Given the description of an element on the screen output the (x, y) to click on. 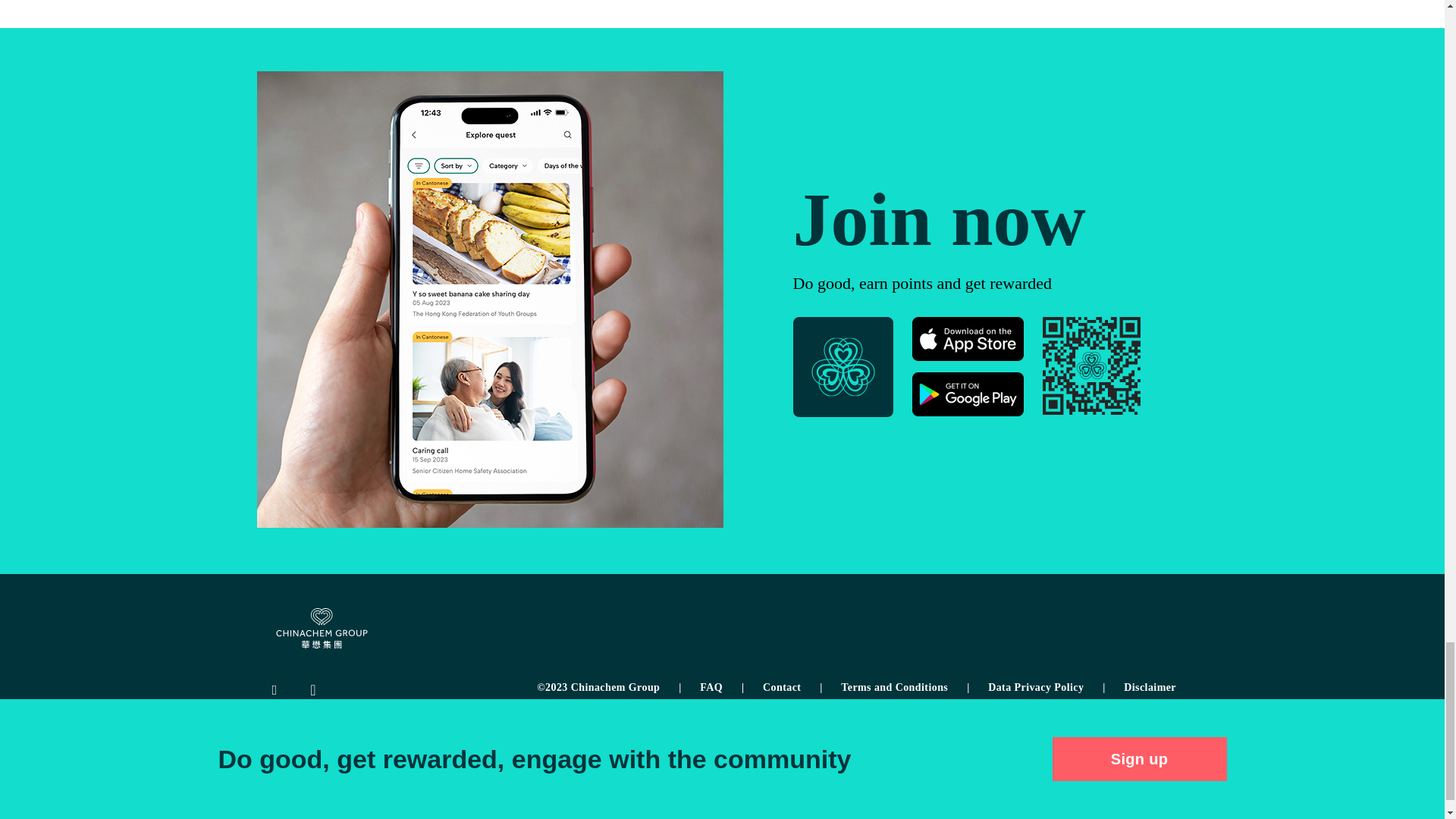
Data Privacy Policy (1046, 686)
Disclaimer (1150, 686)
Terms and Conditions (905, 686)
Contact (792, 686)
FAQ (722, 686)
